Given the description of an element on the screen output the (x, y) to click on. 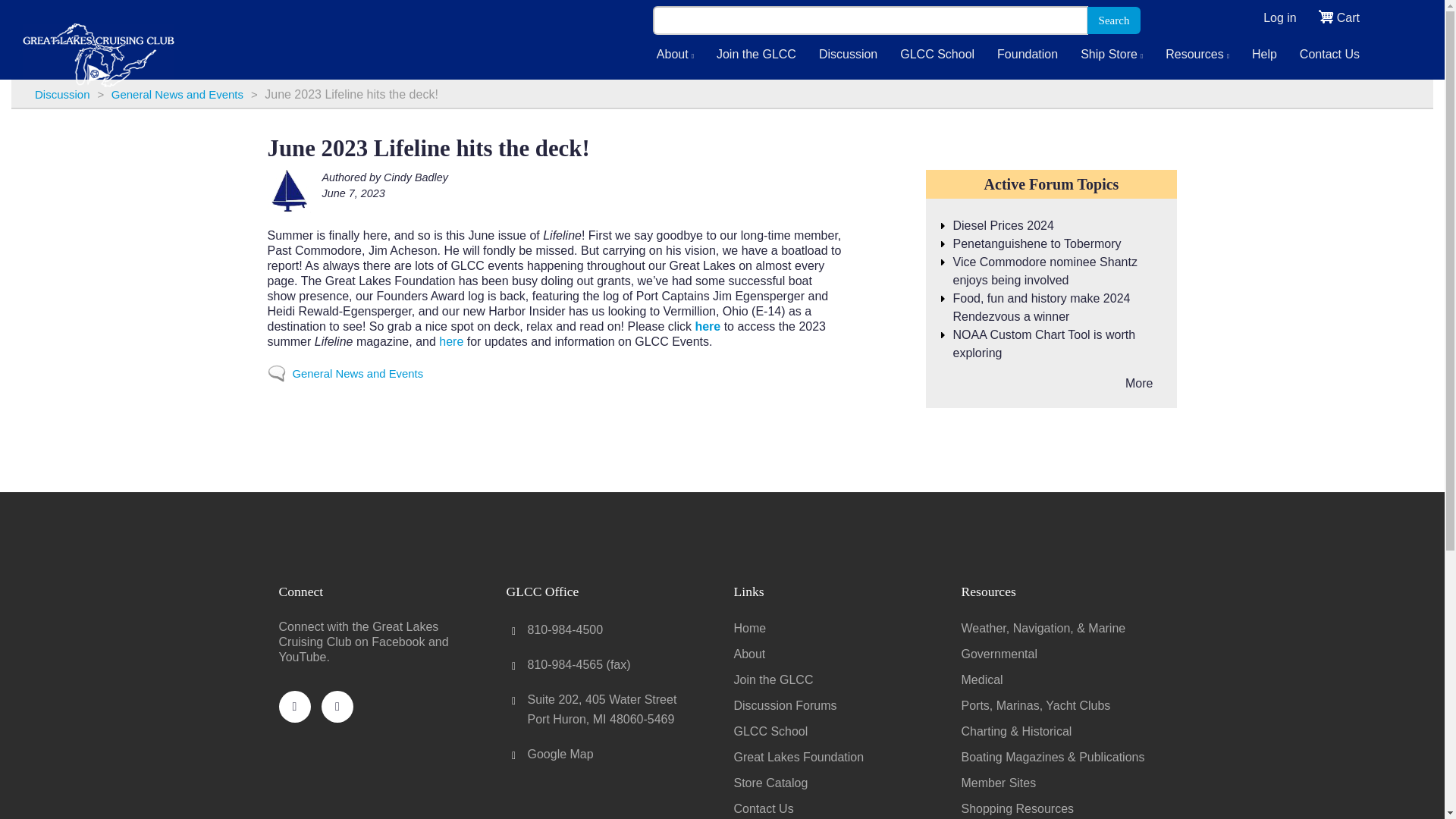
Read the latest forum topics. (1139, 382)
General News and Events (177, 93)
here (451, 341)
About (675, 54)
GLCC School (936, 54)
Home (98, 40)
Cart (1347, 17)
Search (1114, 20)
Contact Us (1329, 54)
Search (1114, 20)
